Given the description of an element on the screen output the (x, y) to click on. 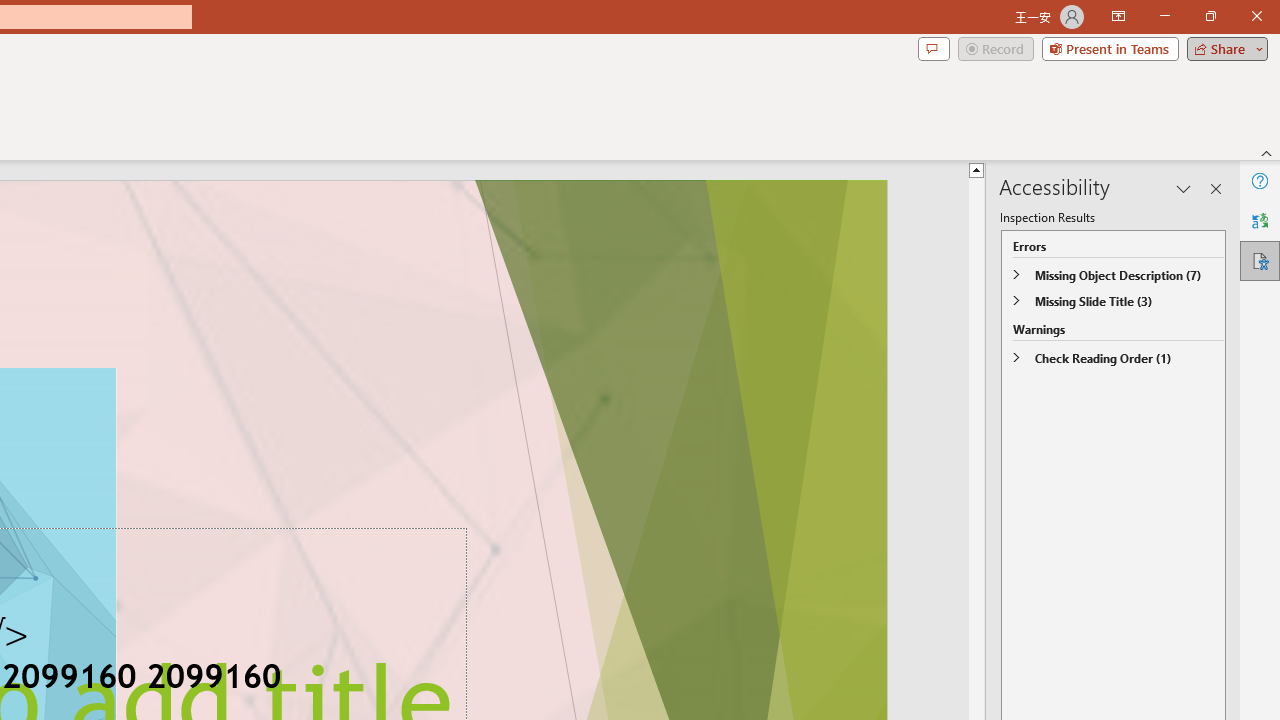
Close (1256, 16)
